Given the description of an element on the screen output the (x, y) to click on. 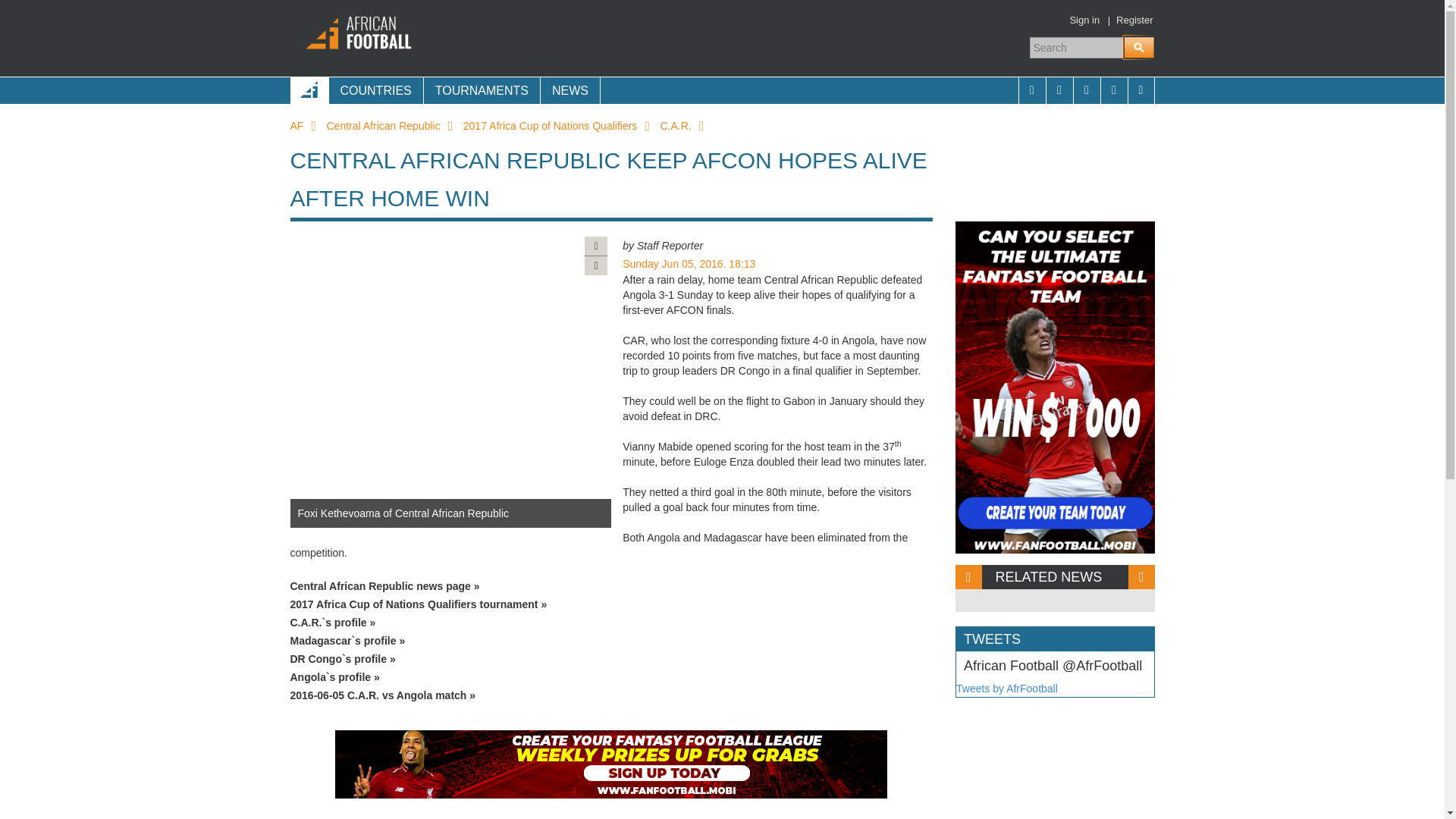
2016-06-05 C.A.R. vs Angola match (611, 695)
COUNTRIES (374, 90)
NEWS (569, 90)
2017 Africa Cup of Nations Qualifiers tournament (611, 604)
Sign in (1083, 19)
TOURNAMENTS (481, 90)
Register (1134, 19)
Central African Republic news page (611, 586)
